Given the description of an element on the screen output the (x, y) to click on. 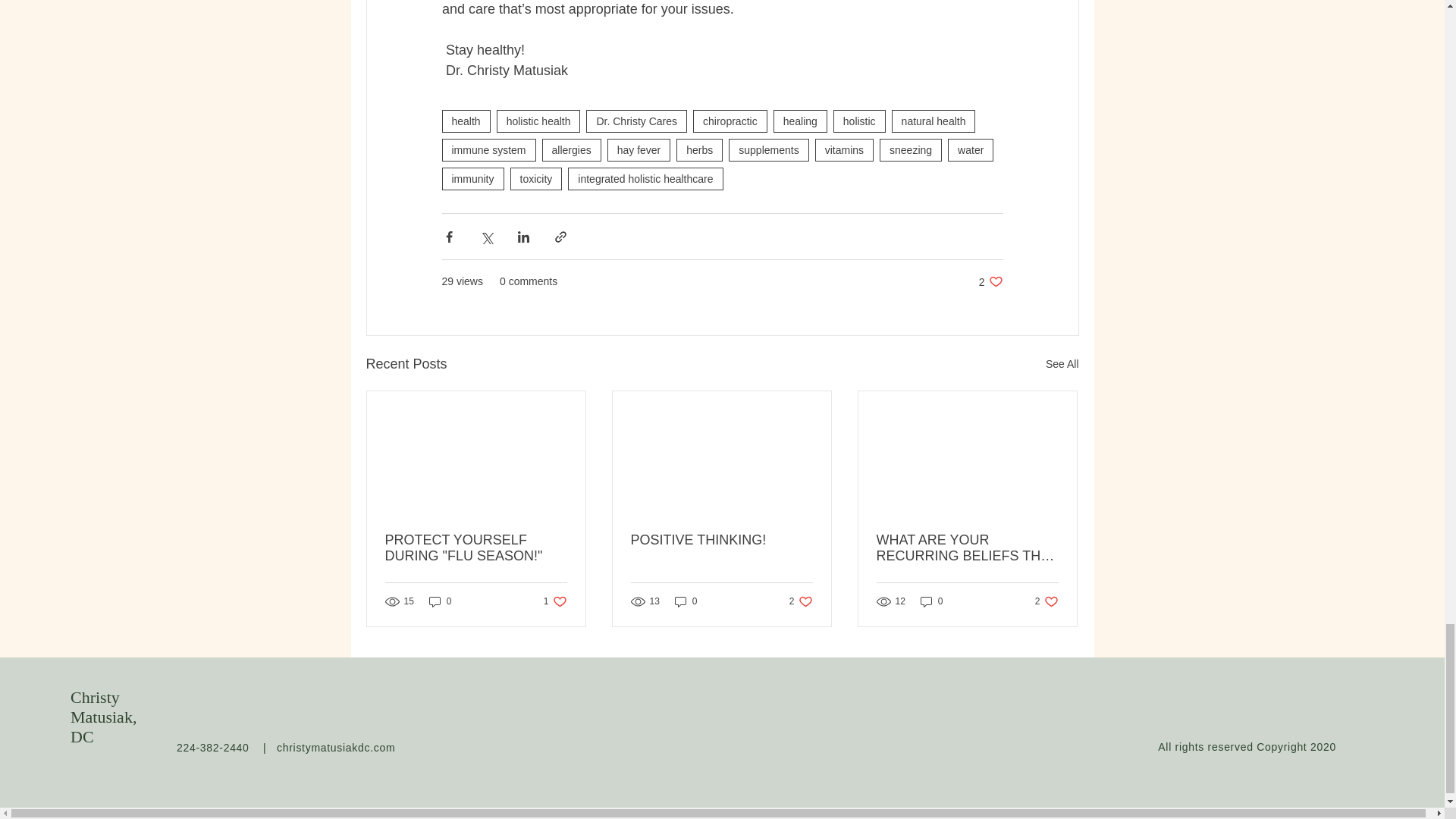
holistic (858, 120)
hay fever (639, 149)
integrated holistic healthcare (644, 178)
supplements (768, 149)
chiropractic (730, 120)
natural health (933, 120)
holistic health (538, 120)
sneezing (910, 149)
immune system (488, 149)
health (465, 120)
